Given the description of an element on the screen output the (x, y) to click on. 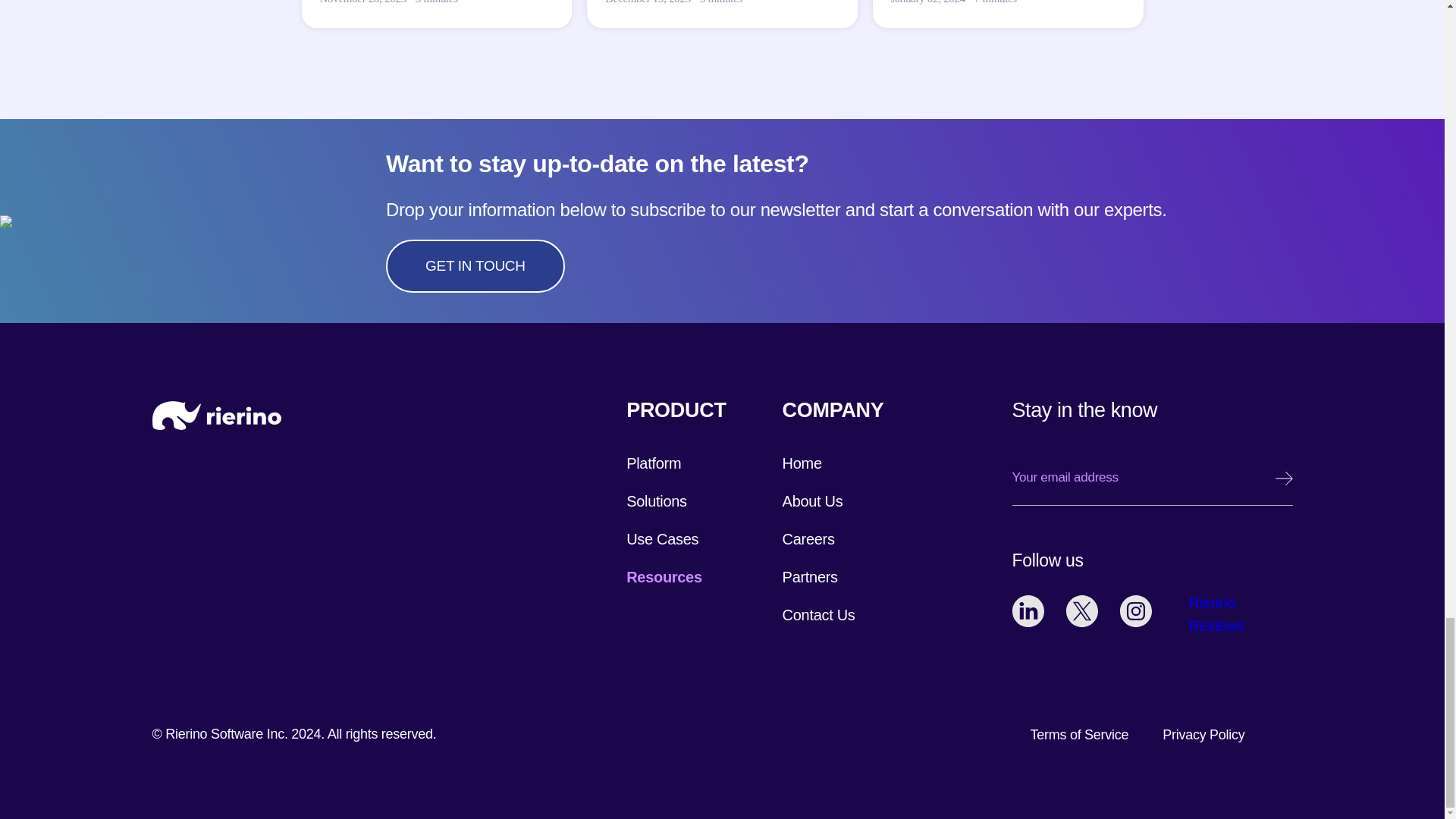
Resources (663, 576)
Solutions (656, 501)
Contact Us (819, 614)
Privacy Policy (1202, 734)
GET IN TOUCH (474, 265)
Careers (808, 538)
Terms of Service (1079, 734)
Partners (810, 576)
About Us (813, 501)
Rierino Reviews (1219, 614)
Home (802, 463)
Platform (653, 463)
Use Cases (662, 538)
